Given the description of an element on the screen output the (x, y) to click on. 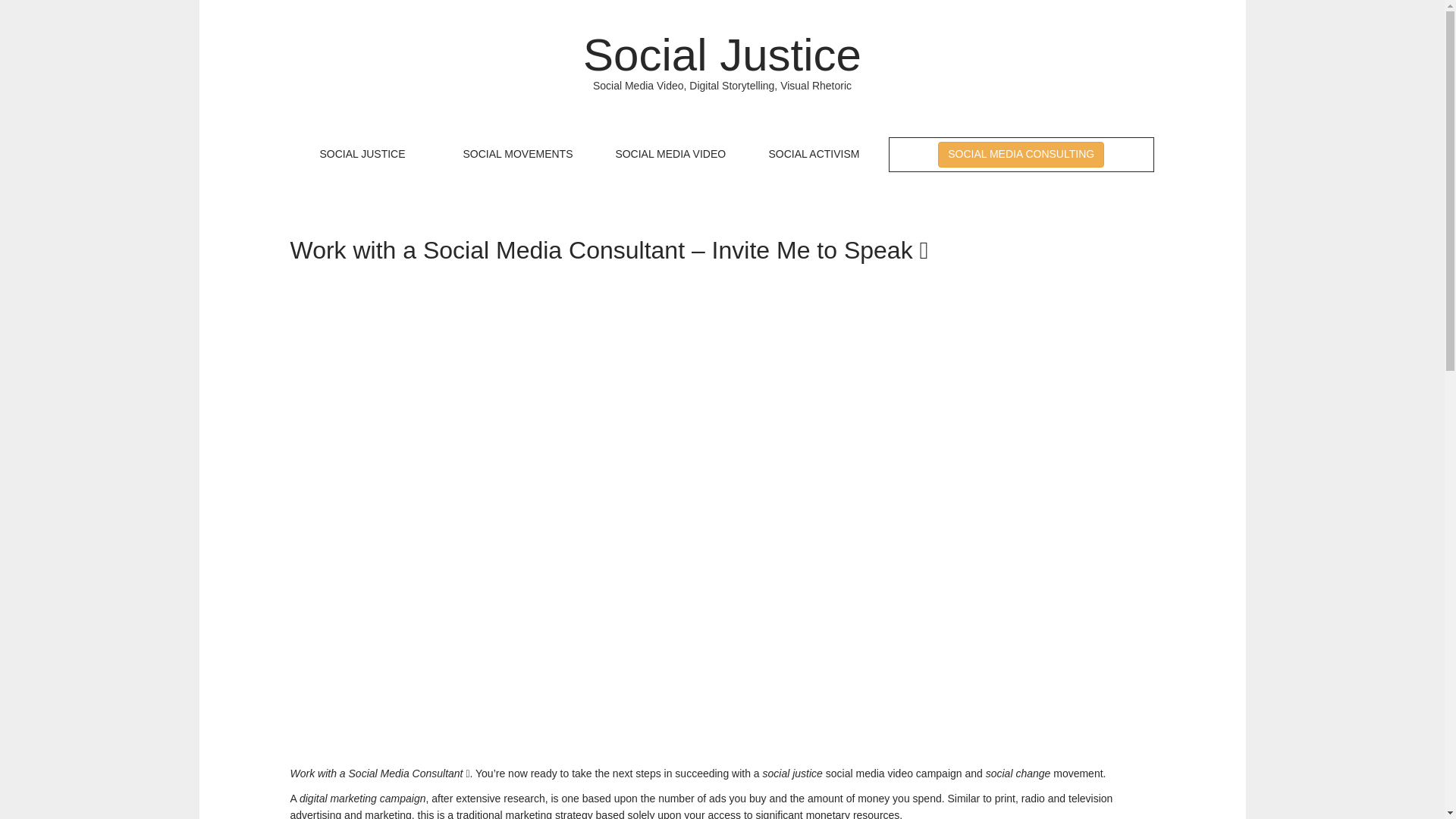
SOCIAL MEDIA VIDEO (670, 154)
SOCIAL MEDIA CONSULTING (1020, 154)
Social Justice (722, 54)
SOCIAL MEDIA CONSULTING (1021, 154)
SOCIAL JUSTICE (362, 154)
SOCIAL ACTIVISM (813, 154)
Social Justice (722, 54)
SOCIAL MOVEMENTS (517, 154)
